Given the description of an element on the screen output the (x, y) to click on. 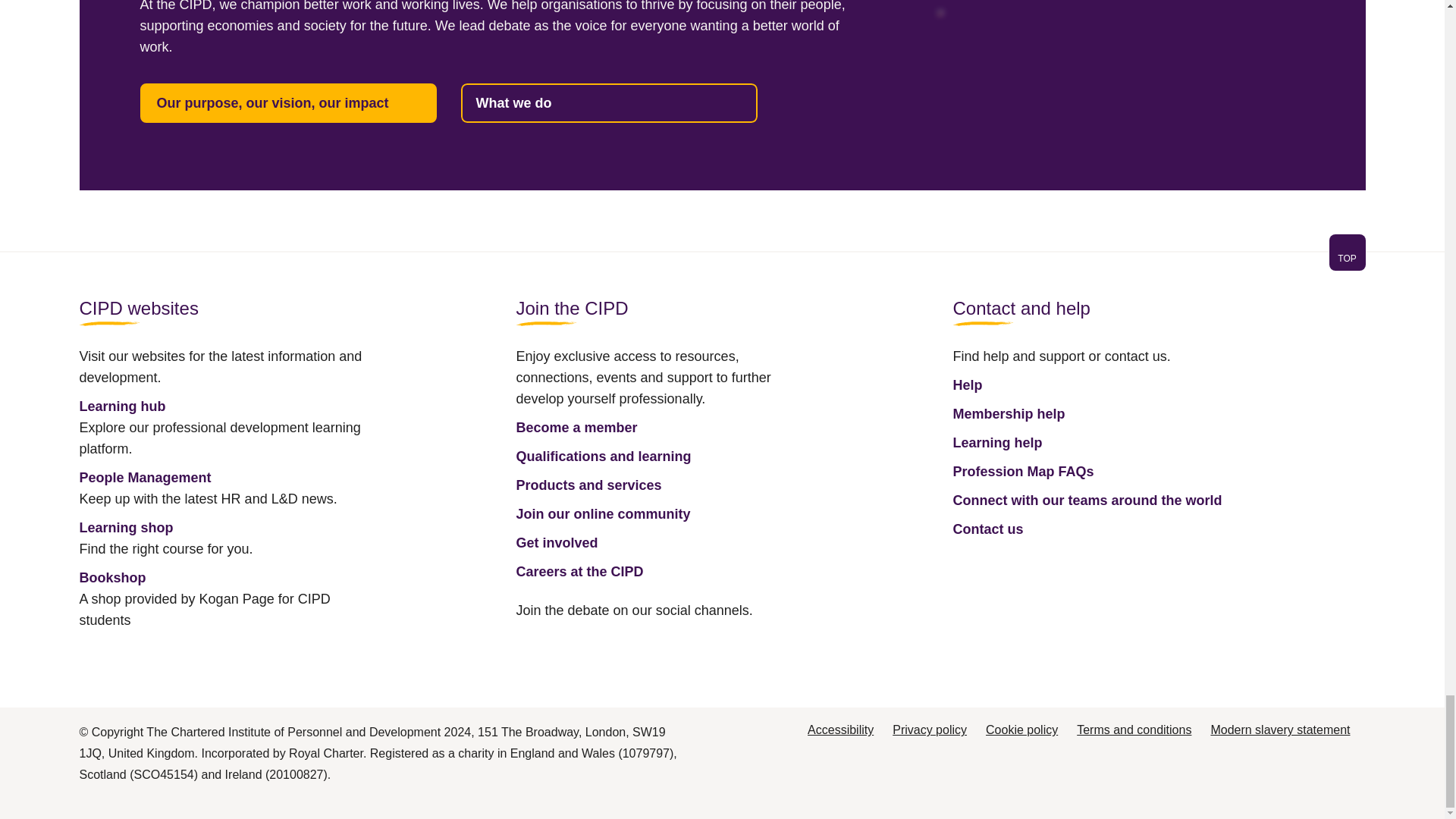
TOP (1346, 252)
TOP (721, 261)
TOP (1346, 258)
